Given the description of an element on the screen output the (x, y) to click on. 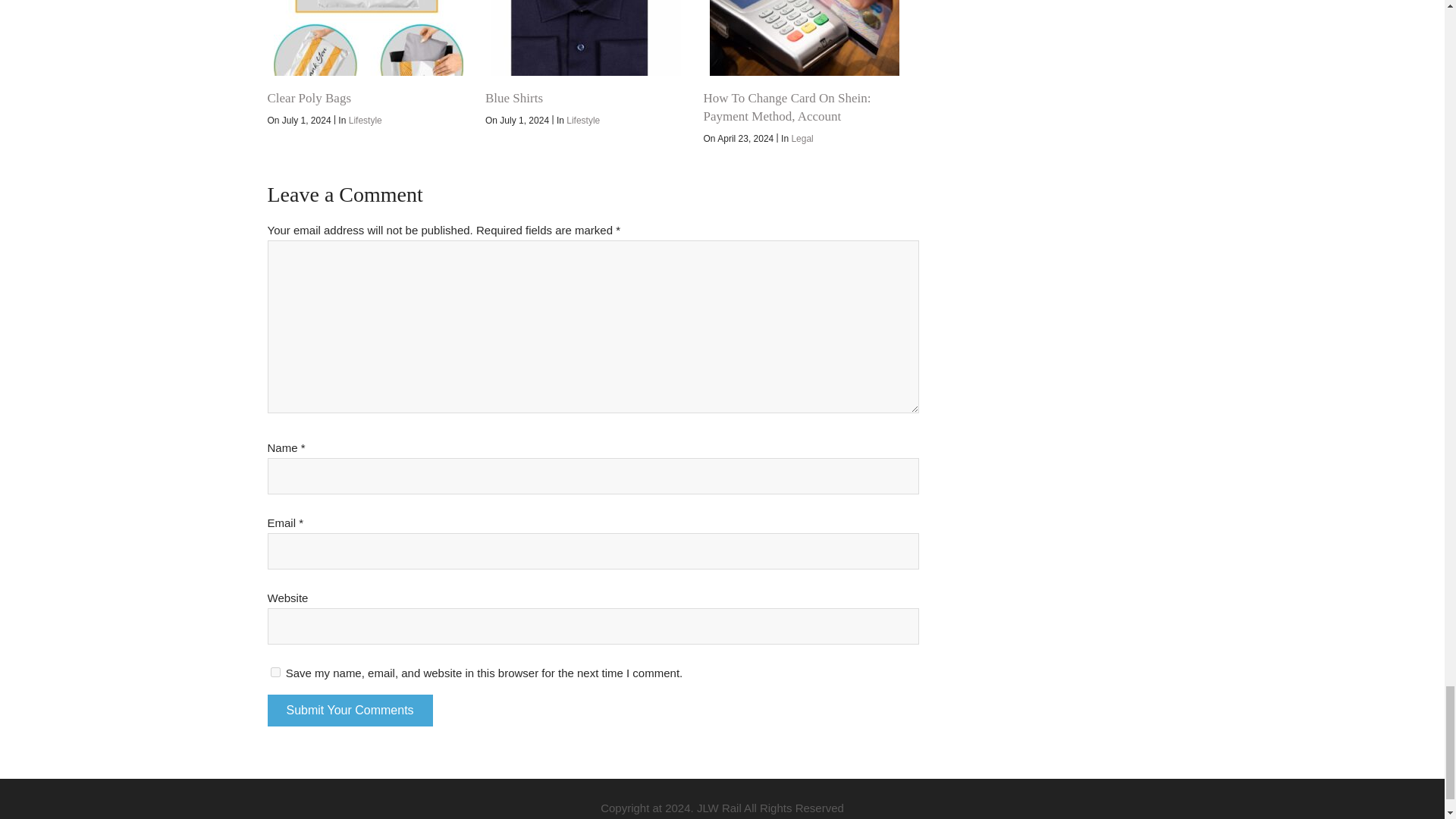
Blue Shirts (585, 38)
Clear Poly Bags (367, 38)
Submit Your Comments (349, 710)
Submit Your Comments (349, 710)
Lifestyle (365, 120)
yes (274, 672)
How To Change Card On Shein: Payment Method, Account (804, 38)
Lifestyle (582, 120)
Blue Shirts (513, 97)
Legal (801, 138)
Clear Poly Bags (308, 97)
How To Change Card On Shein: Payment Method, Account (786, 106)
